Given the description of an element on the screen output the (x, y) to click on. 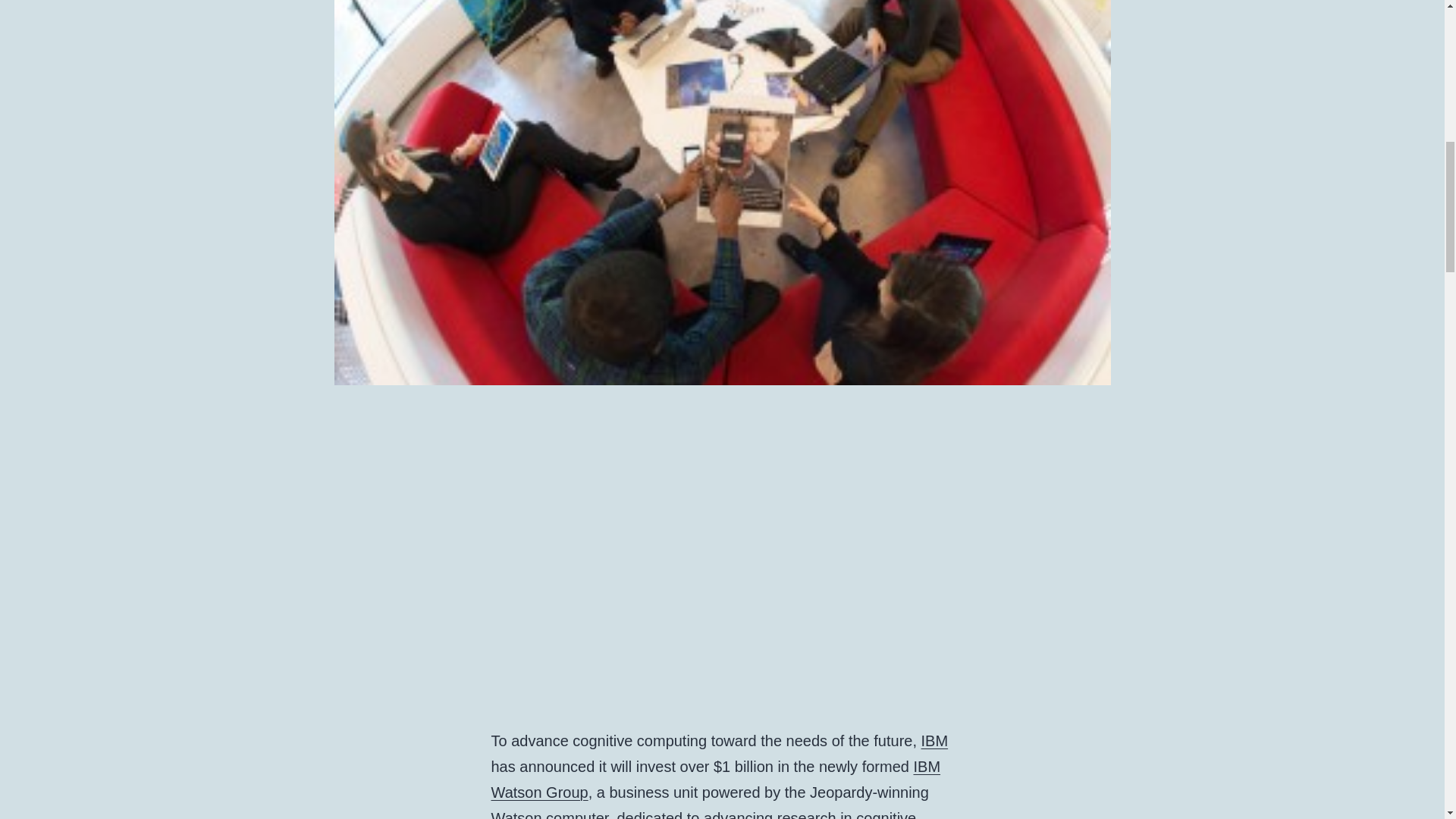
IBM Watson Group (716, 779)
IBM (935, 740)
